Given the description of an element on the screen output the (x, y) to click on. 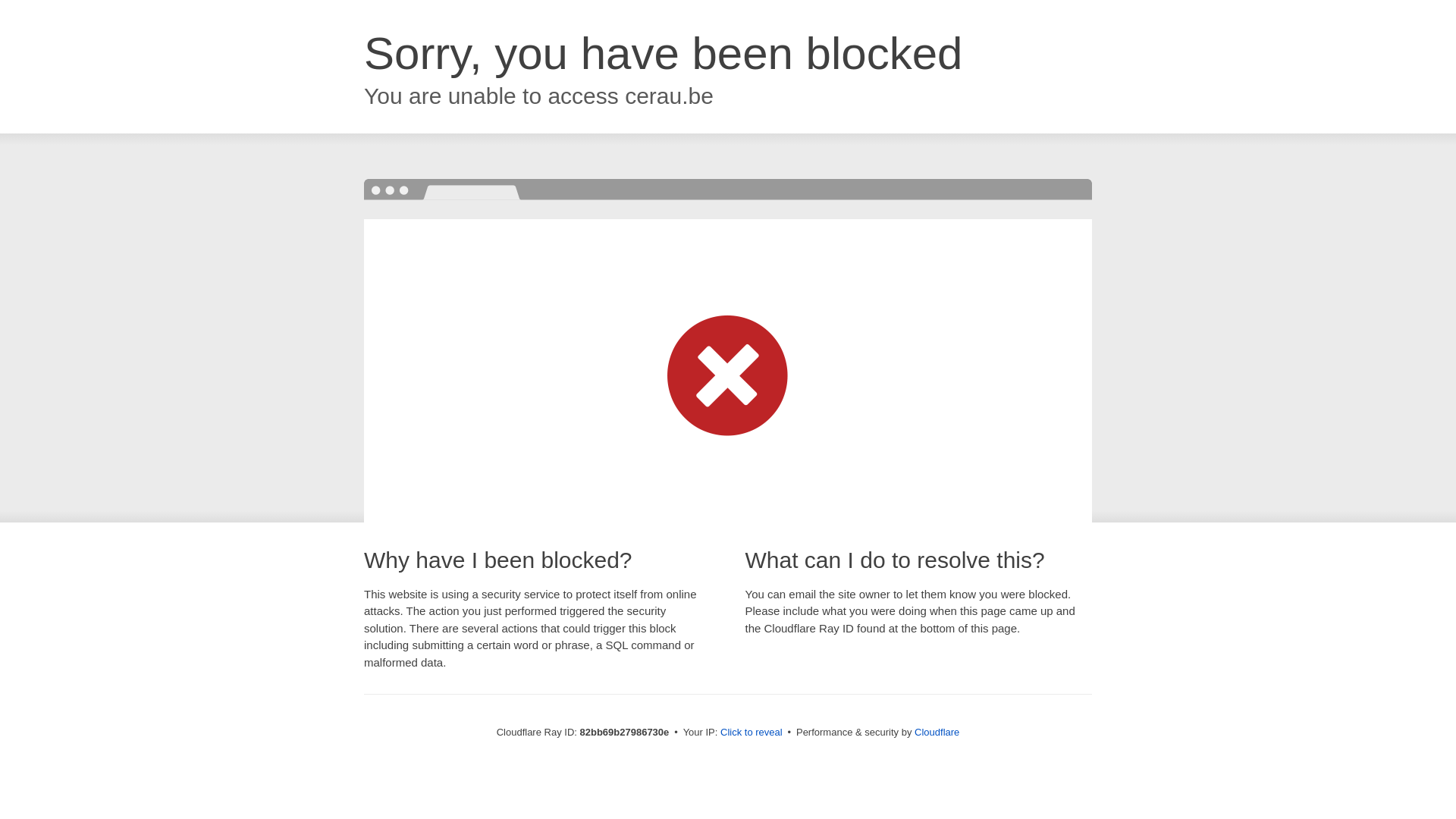
Click to reveal Element type: text (751, 732)
Cloudflare Element type: text (936, 731)
